Given the description of an element on the screen output the (x, y) to click on. 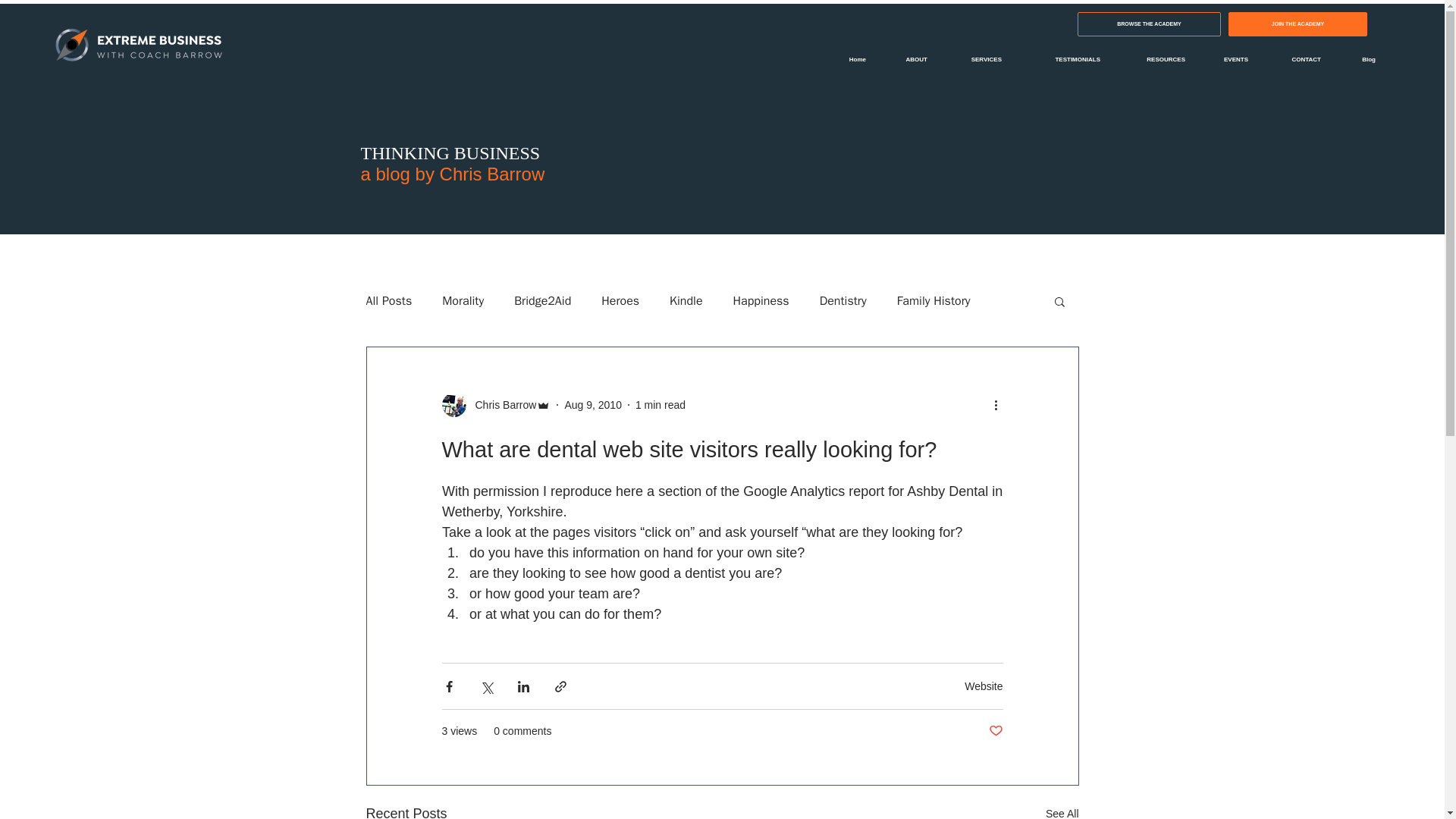
Dentistry (842, 300)
CONTACT (1295, 59)
Home (849, 59)
Happiness (761, 300)
JOIN THE ACADEMY (1297, 24)
Blog (1359, 59)
Aug 9, 2010 (592, 404)
Chris Barrow (500, 405)
BROWSE THE ACADEMY (1149, 24)
Kindle (685, 300)
